Given the description of an element on the screen output the (x, y) to click on. 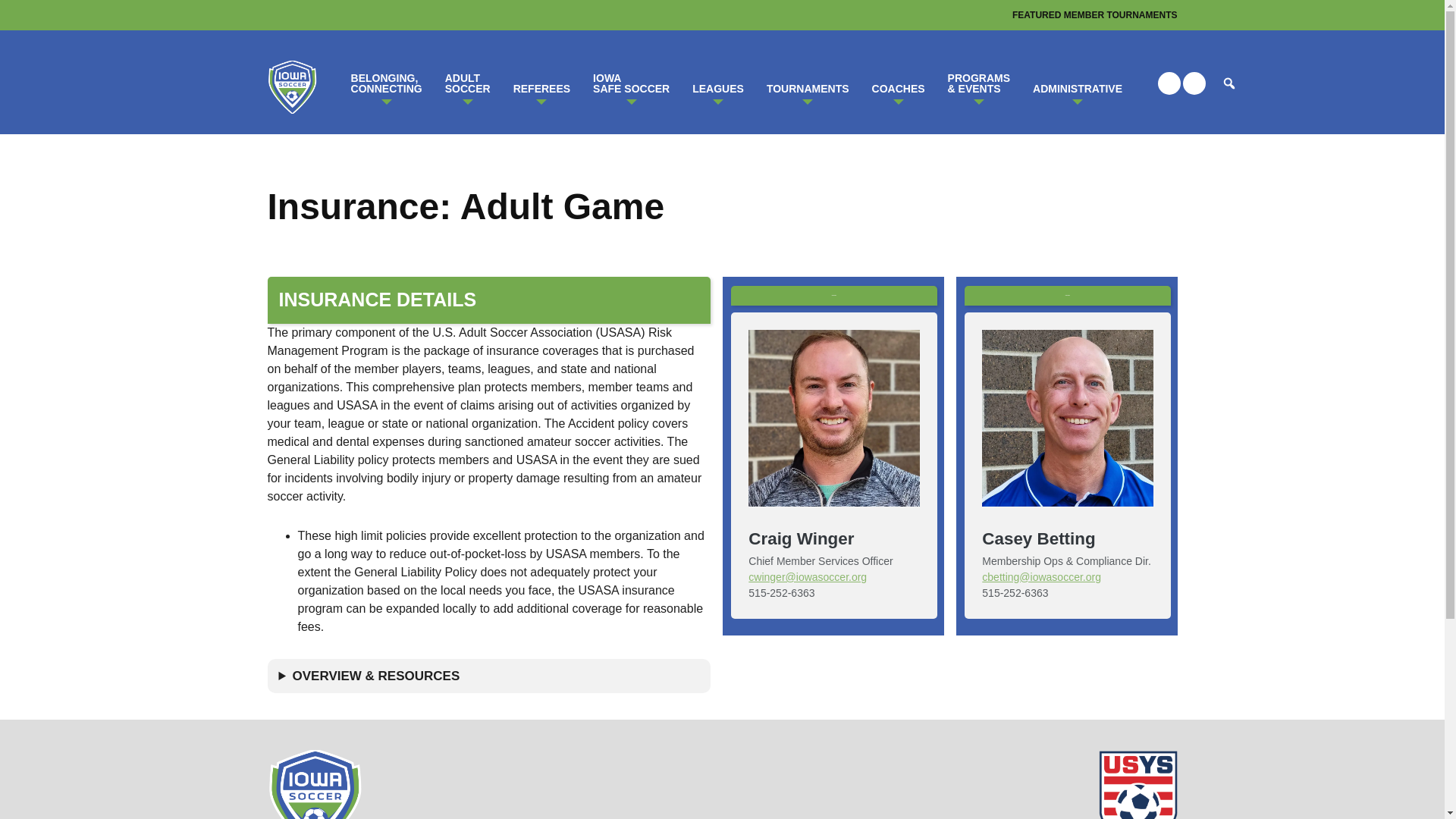
FEATURED MEMBER TOURNAMENTS (467, 82)
LEAGUES (1094, 15)
Search (718, 82)
Search (630, 82)
REFEREES (807, 82)
